Given the description of an element on the screen output the (x, y) to click on. 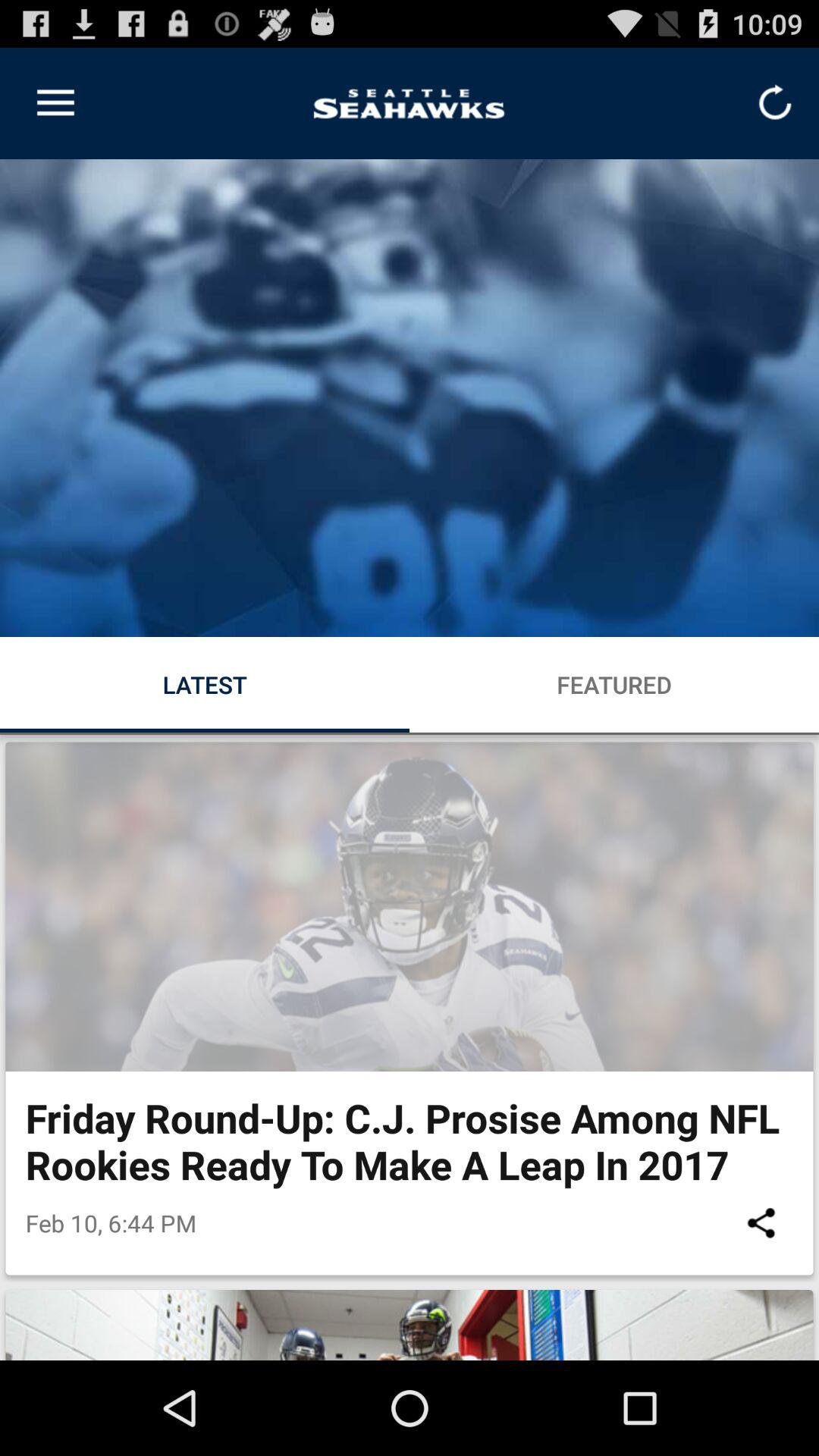
select the second image of the page (409, 906)
select the logo on left to the refresh button on the web page (409, 103)
click on the button which is at the bottom right corner of the page (761, 1223)
